Given the description of an element on the screen output the (x, y) to click on. 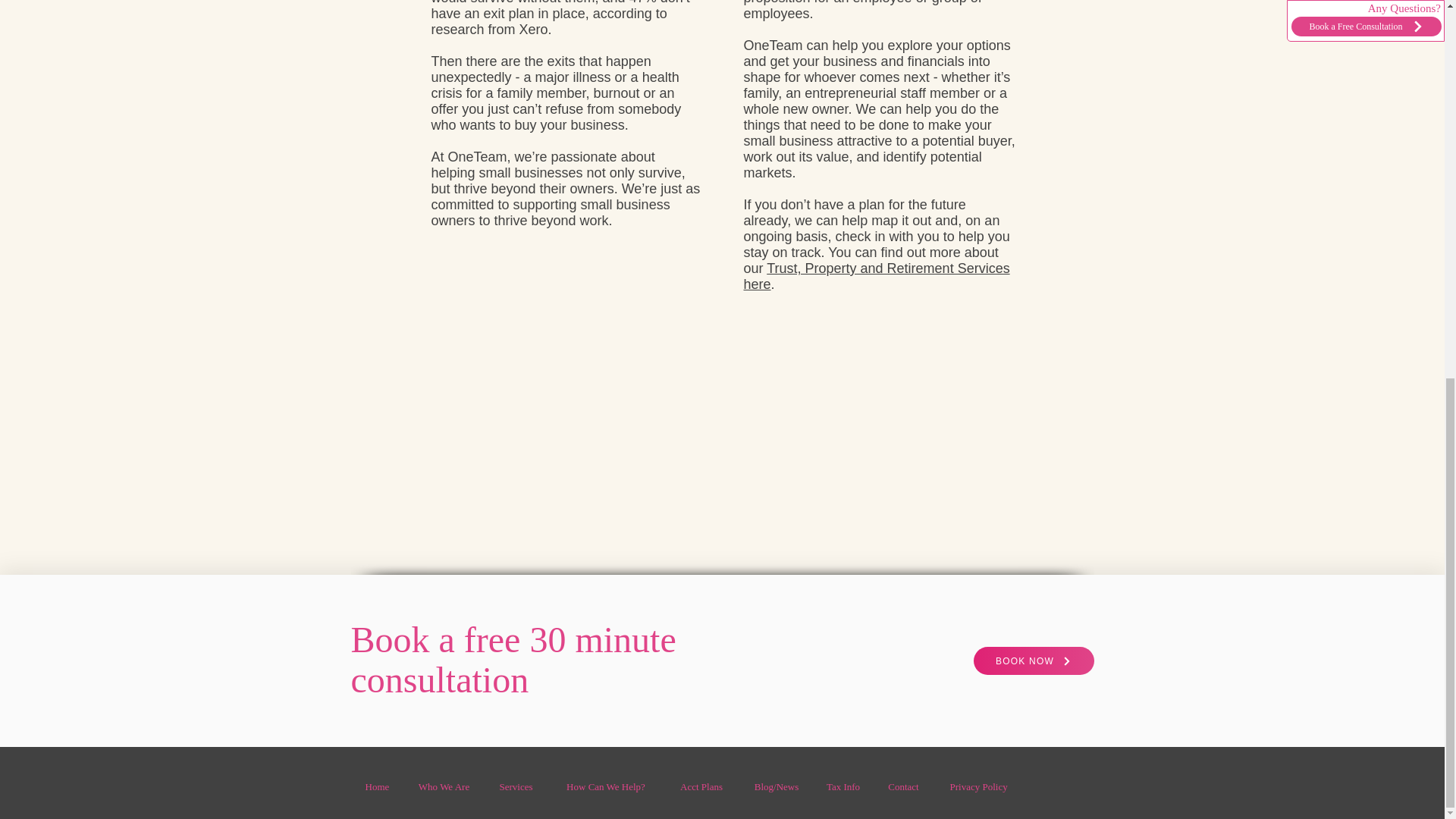
Home (376, 786)
Trust, Property and Retirement Services here (875, 276)
BOOK NOW (1034, 660)
